Given the description of an element on the screen output the (x, y) to click on. 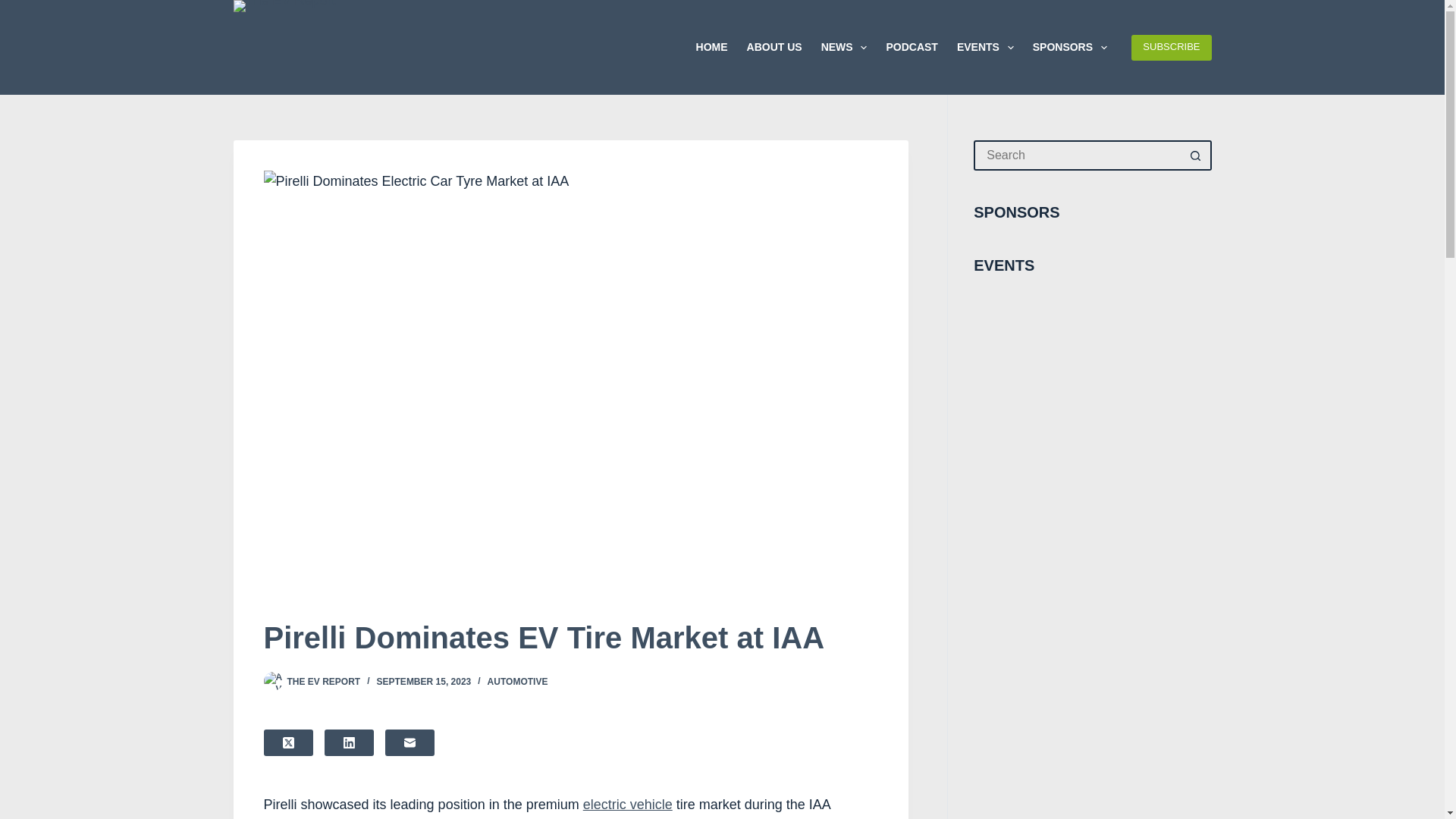
Search for... (1077, 155)
Skip to content (15, 7)
Posts by The EV Report (322, 681)
Pirelli Dominates EV Tire Market at IAA (570, 637)
